Given the description of an element on the screen output the (x, y) to click on. 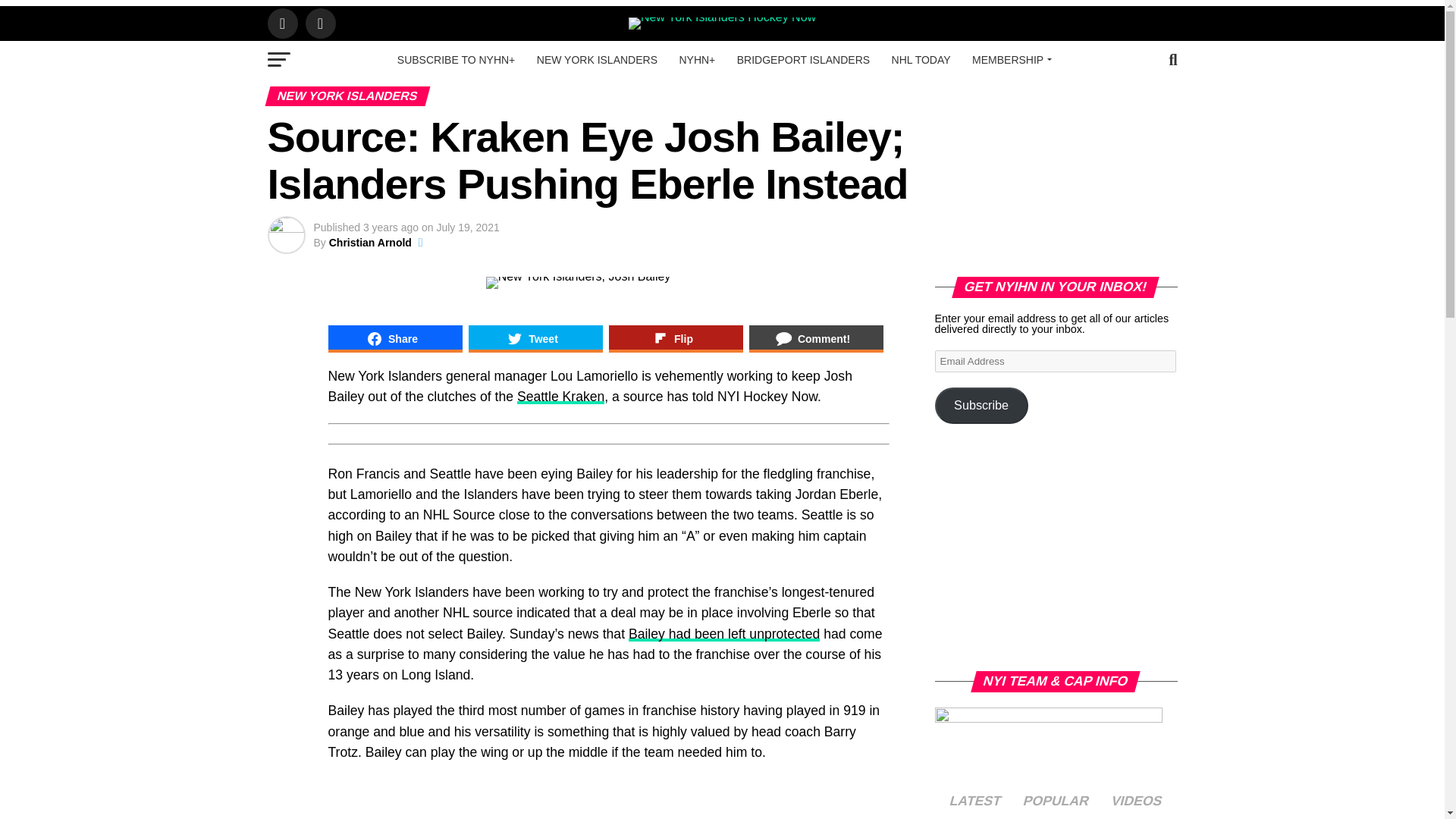
NHL TODAY (920, 59)
Share on Tweet (535, 338)
BRIDGEPORT ISLANDERS (803, 59)
NEW YORK ISLANDERS (596, 59)
Share on Comment! (816, 338)
Posts by Christian Arnold (370, 242)
Share on Share (394, 338)
Share on Flip (675, 338)
